Given the description of an element on the screen output the (x, y) to click on. 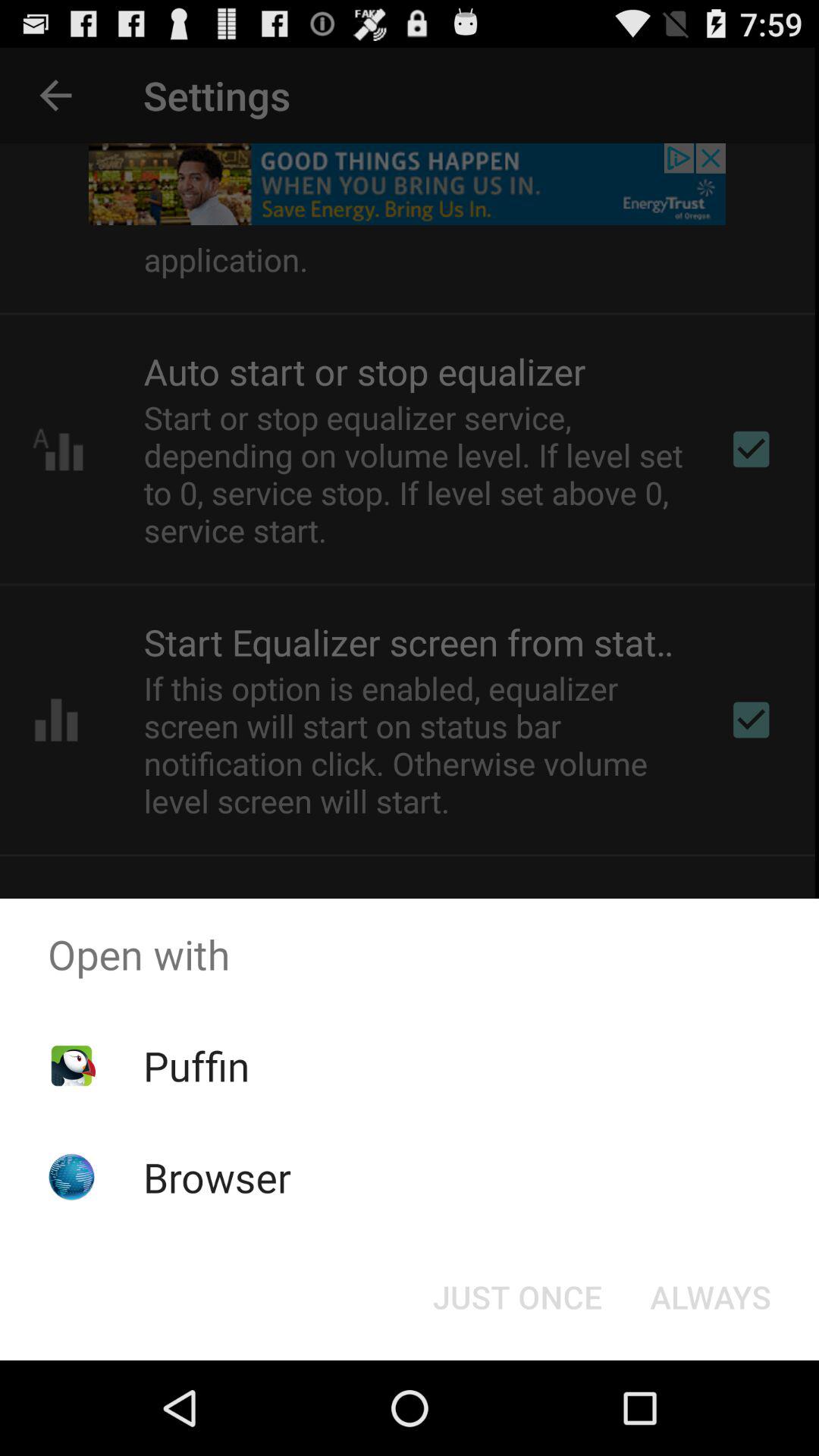
launch icon below open with item (517, 1296)
